Given the description of an element on the screen output the (x, y) to click on. 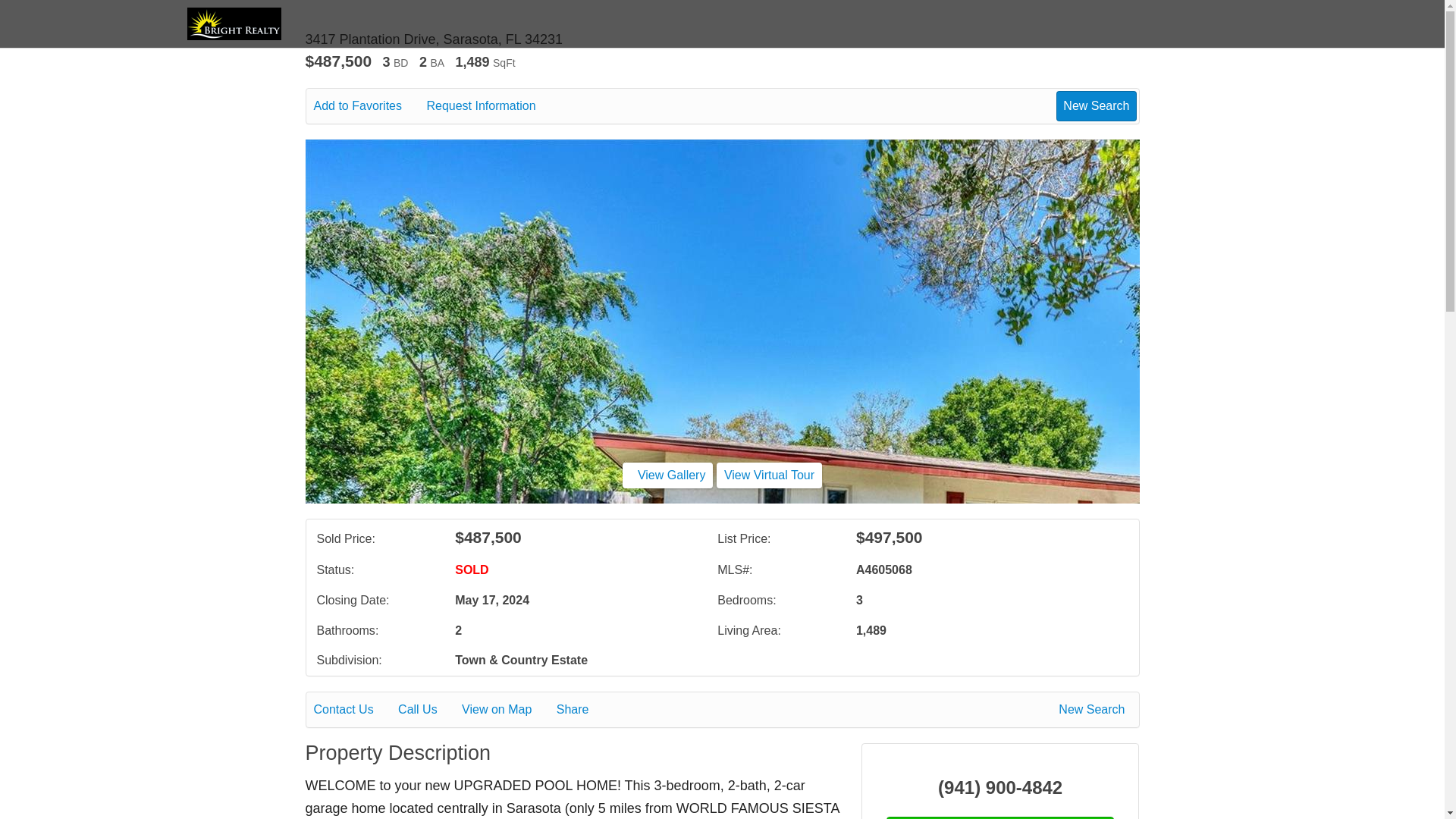
Contact Us (354, 709)
View Virtual Tour (769, 475)
Call Us (427, 709)
Share (583, 709)
Request Information (491, 106)
New Search (1094, 709)
Add to Favorites (368, 106)
View Gallery (668, 475)
View Virtual Tour (769, 474)
View on Map (507, 709)
View Gallery (668, 474)
New Search (1096, 105)
